Given the description of an element on the screen output the (x, y) to click on. 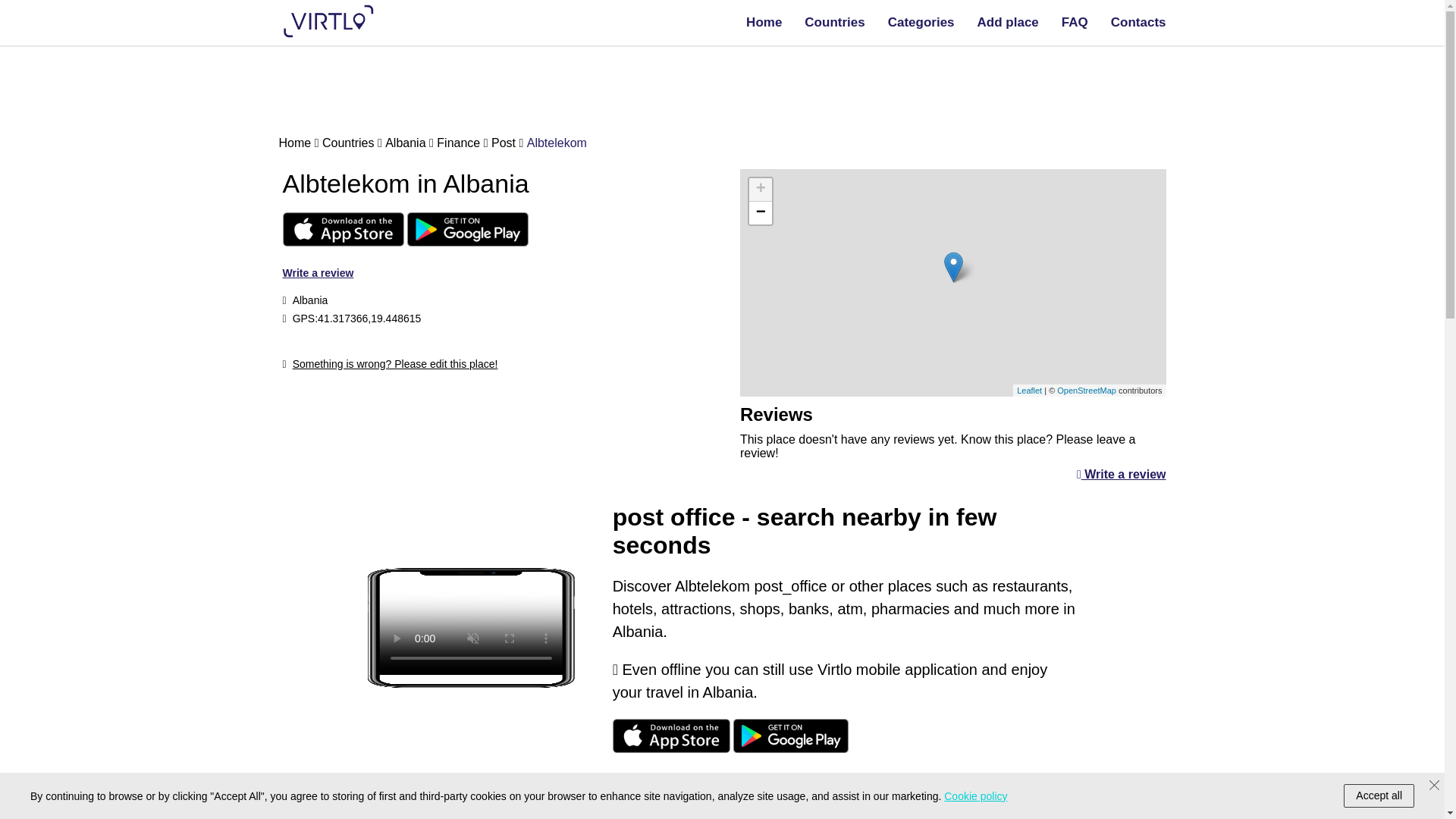
Zoom in (760, 189)
OpenStreetMap (1086, 388)
FAQ (1074, 22)
Countries (351, 142)
Home (298, 142)
Finance (461, 142)
Contacts (1138, 22)
Leaflet (1029, 388)
Home (763, 22)
Virtlo (326, 805)
Advertisement (494, 434)
Cookie policy (975, 796)
Something is wrong? Please edit this place! (389, 363)
Albania (409, 142)
Categories (921, 22)
